Given the description of an element on the screen output the (x, y) to click on. 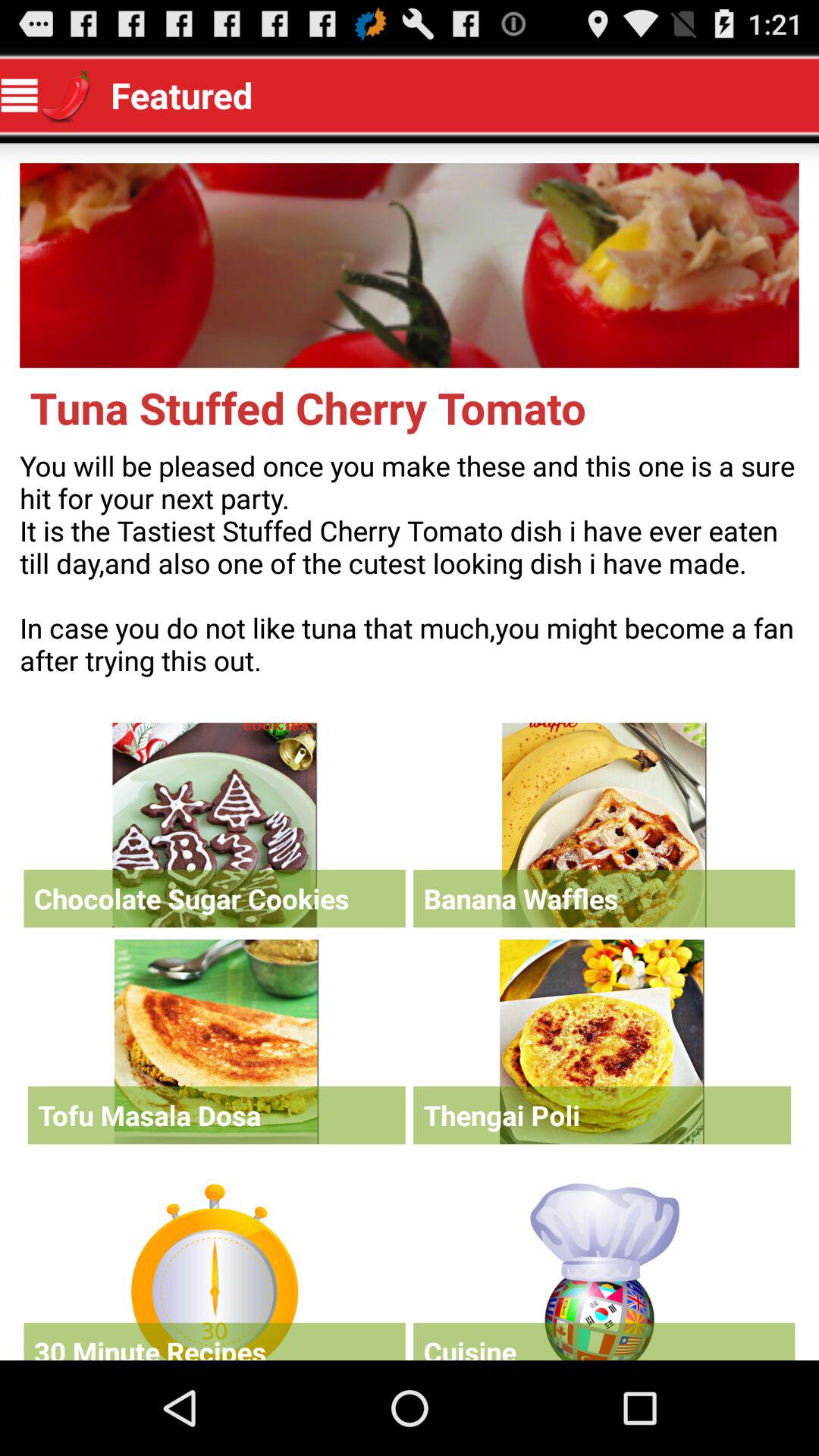
expands the image (409, 265)
